Given the description of an element on the screen output the (x, y) to click on. 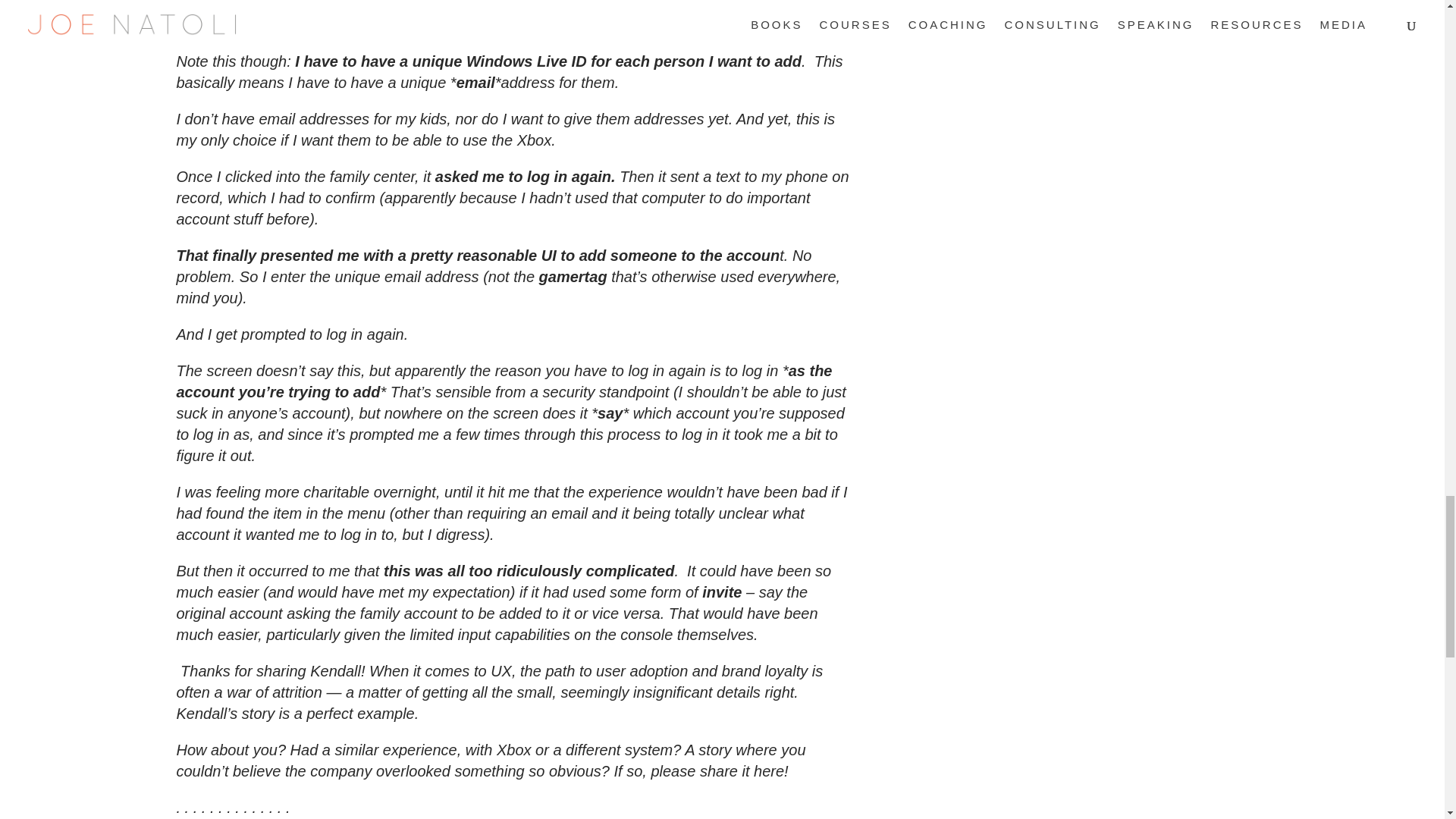
image007 (399, 18)
